Given the description of an element on the screen output the (x, y) to click on. 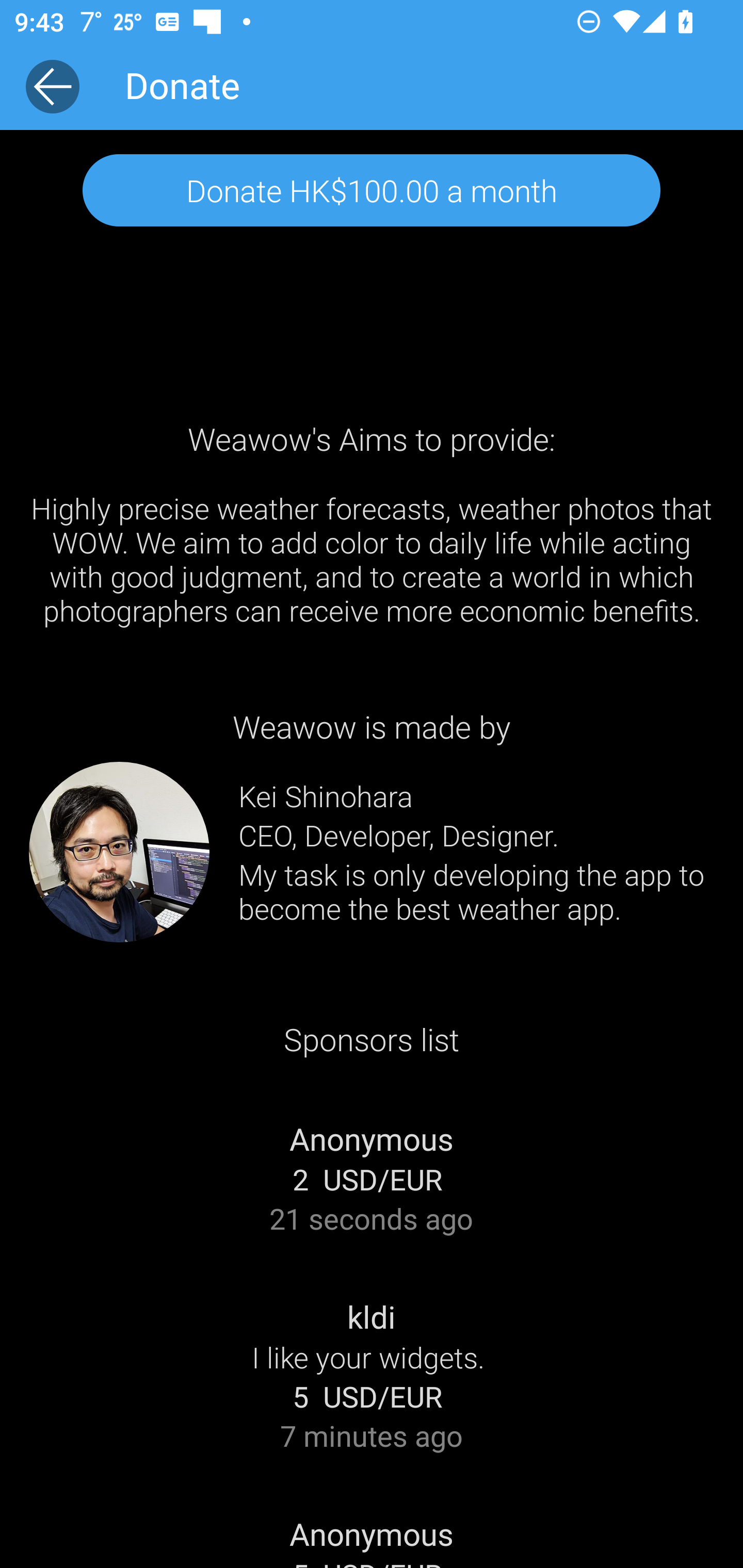
Donate HK$100.00 a month (371, 189)
